Given the description of an element on the screen output the (x, y) to click on. 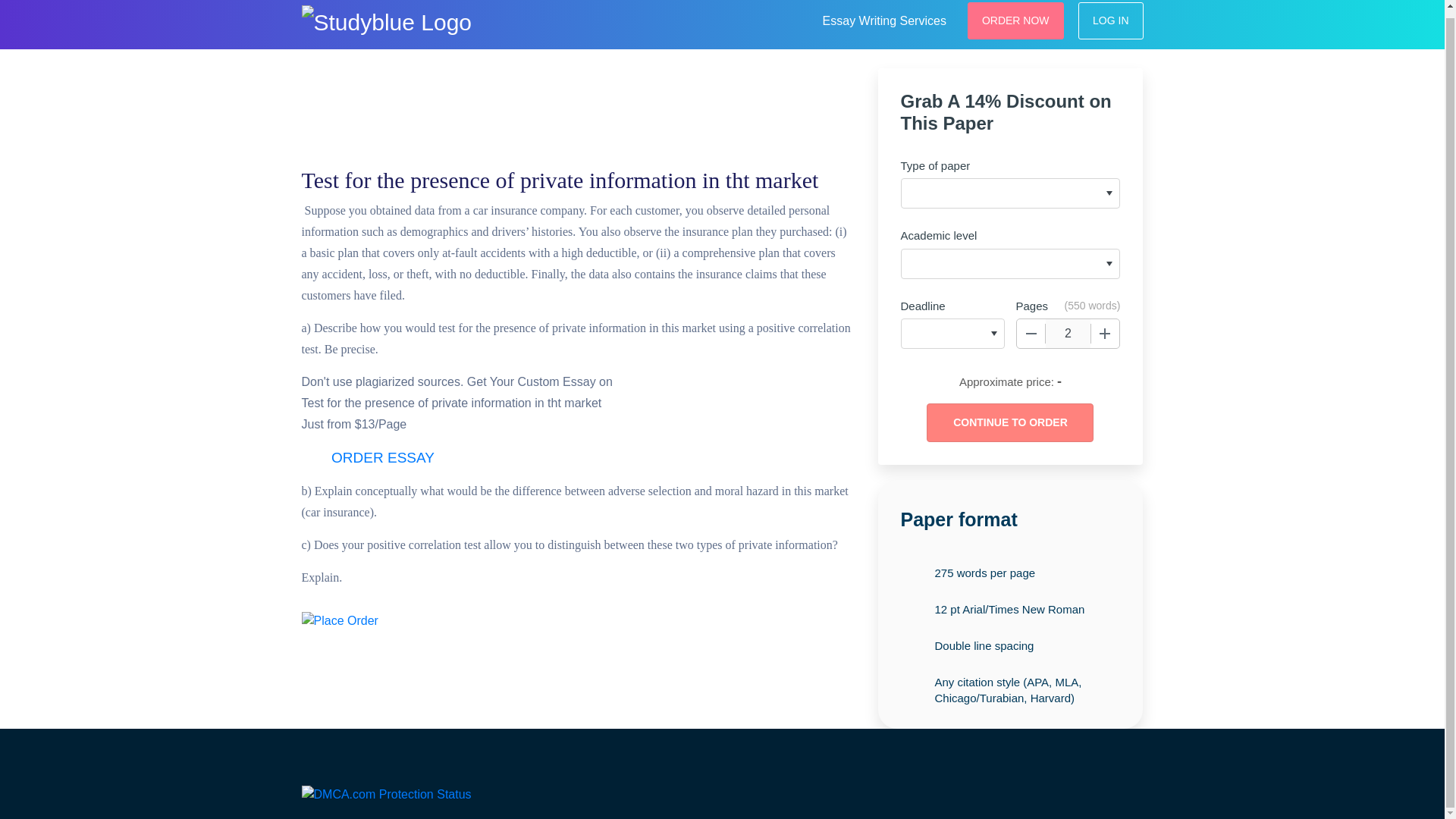
Decrease (1030, 333)
DMCA.com Protection Status (386, 793)
2 (1067, 333)
ORDER ESSAY (382, 457)
Essay Writing Services (884, 18)
Place Order (339, 620)
Essay Writing Services (884, 18)
Increase (1104, 333)
ORDER NOW (1016, 20)
Continue to order (1009, 422)
Continue to order (1009, 422)
LOG IN (1110, 20)
